Given the description of an element on the screen output the (x, y) to click on. 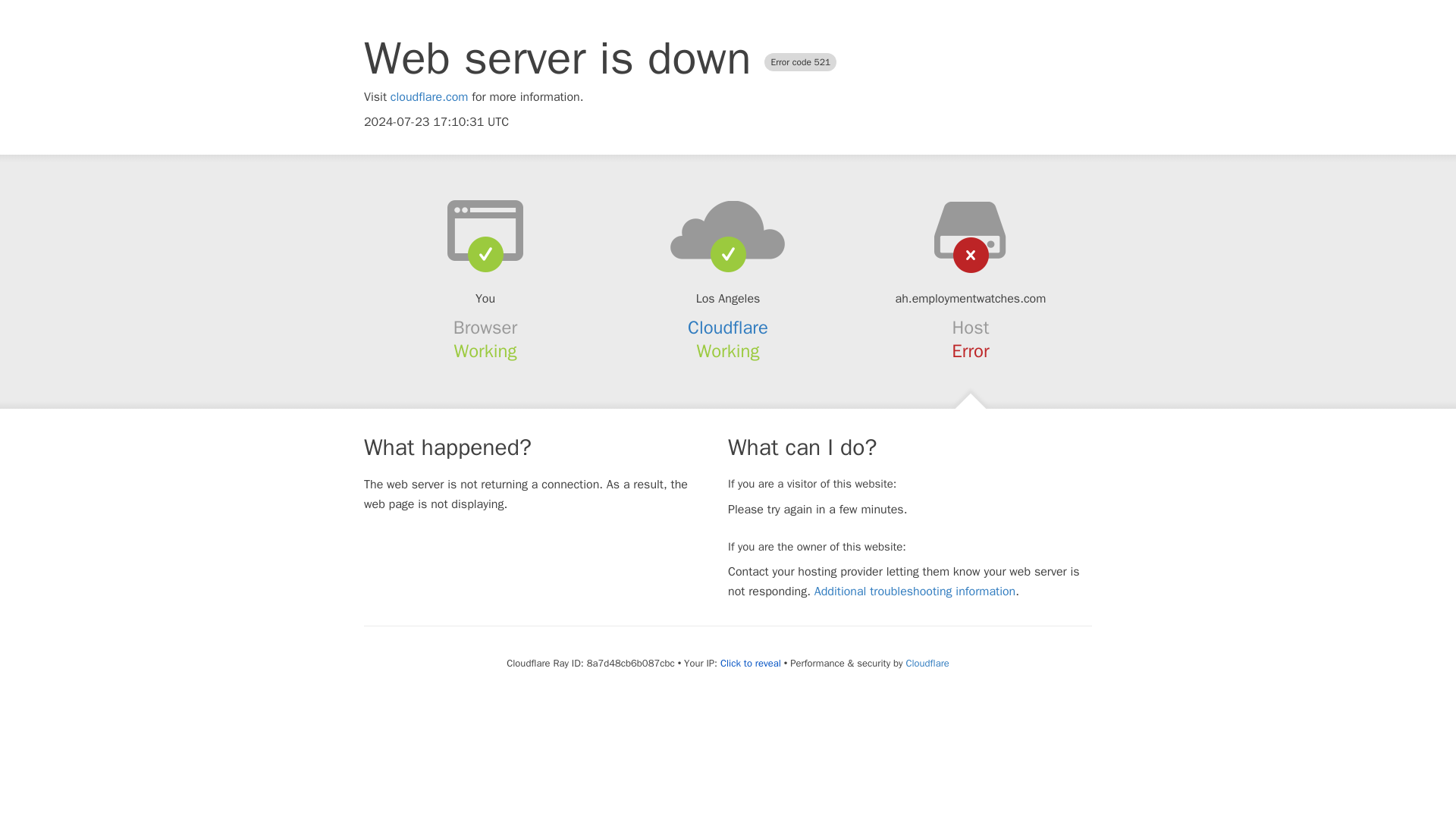
cloudflare.com (429, 96)
Cloudflare (727, 327)
Cloudflare (927, 662)
Additional troubleshooting information (913, 590)
Click to reveal (750, 663)
